Given the description of an element on the screen output the (x, y) to click on. 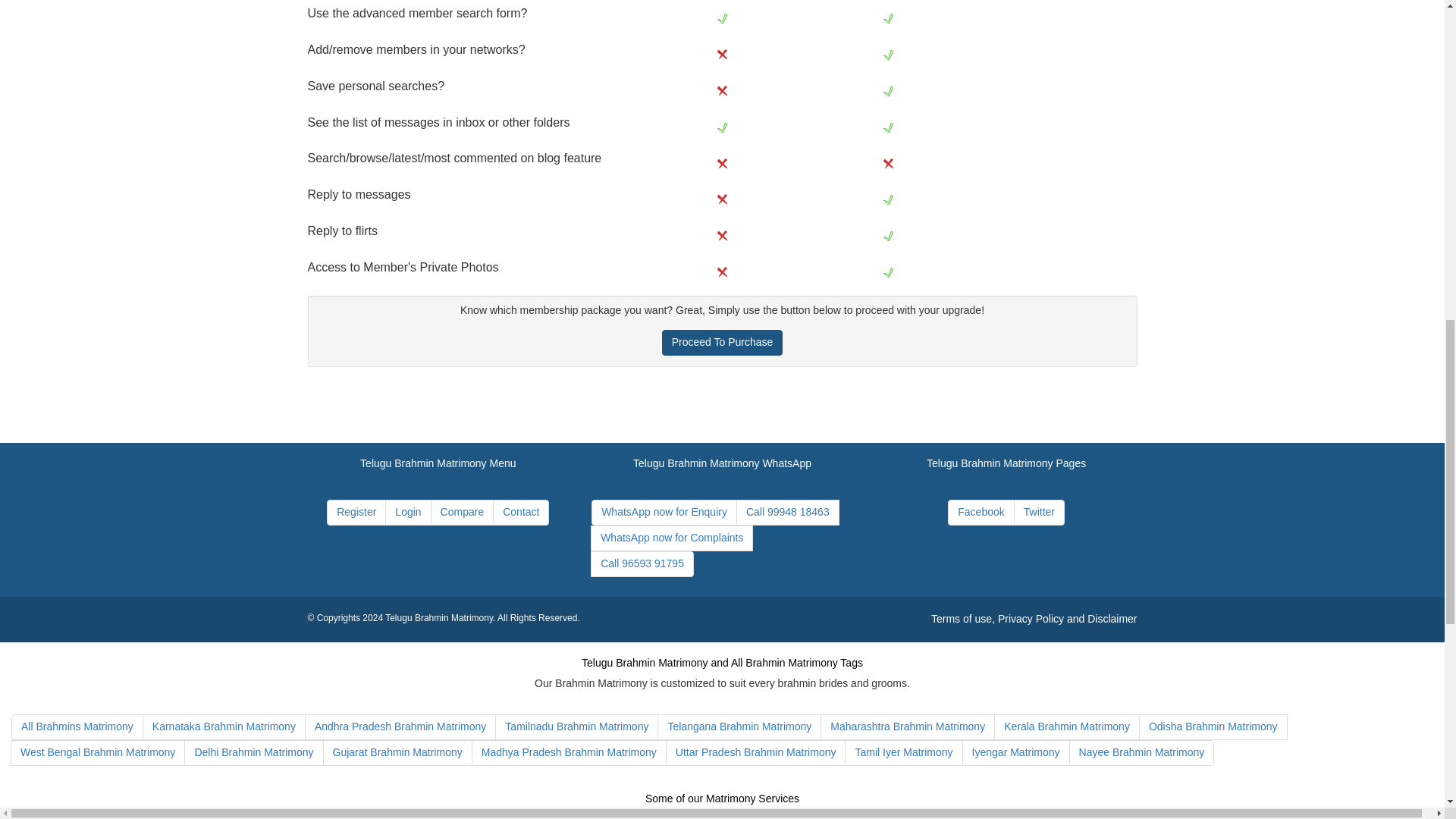
Twitter (1038, 512)
Andhra Pradesh Brahmin Matrimony (400, 727)
Help line (642, 564)
Terms of use, Privacy Policy and Disclaimer (1034, 618)
Brahmin Matrimony Whatsapp Number (663, 512)
Upgrade membership (722, 342)
Brahmin Matrimony Whatsapp Number (671, 538)
Kerala Brahmin Matrimony (1067, 727)
Telugu Brahmin Matrimony (439, 617)
WhatsApp now for Complaints (671, 538)
